Given the description of an element on the screen output the (x, y) to click on. 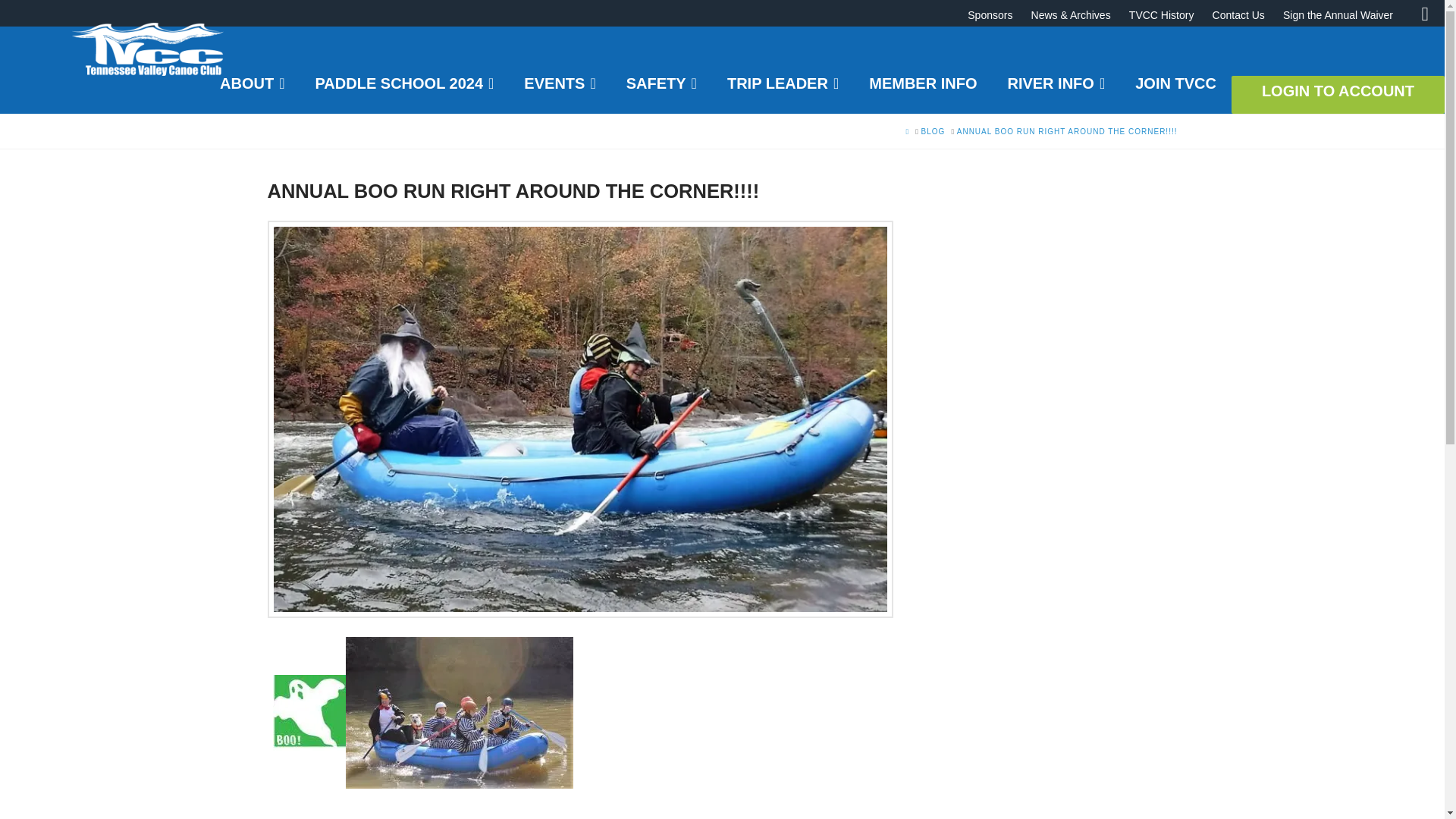
Sign the Annual Waiver (1344, 15)
TRIP LEADER (782, 91)
Facebook (1424, 14)
JOIN TVCC (1175, 91)
RIVER INFO (1055, 91)
Contact Us (1245, 15)
ABOUT (252, 91)
MEMBER INFO (922, 91)
Sponsors (997, 15)
You Are Here (1066, 131)
